Given the description of an element on the screen output the (x, y) to click on. 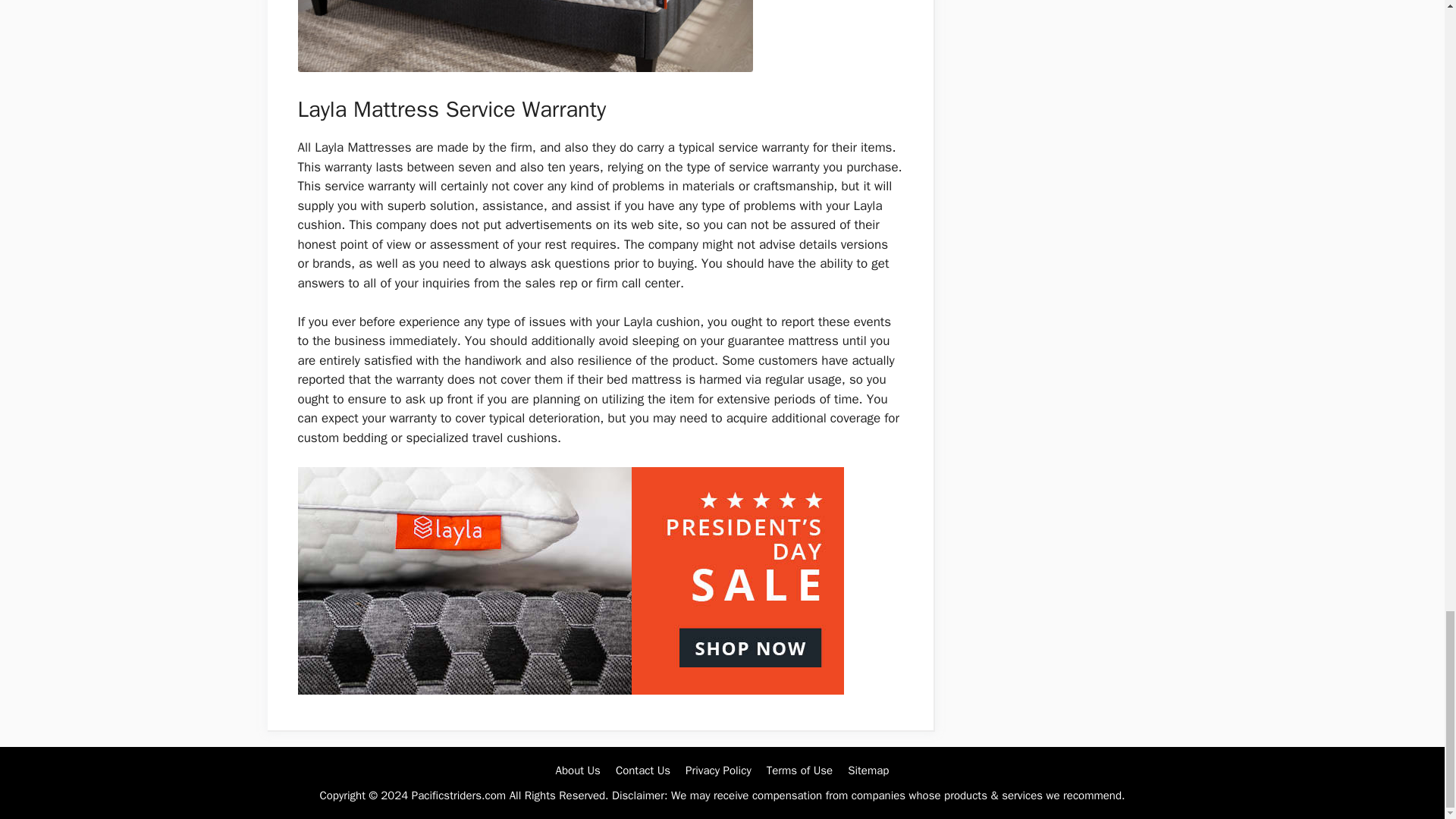
Terms of Use (799, 770)
Sitemap (867, 770)
Privacy Policy (718, 770)
Contact Us (642, 770)
About Us (577, 770)
